Given the description of an element on the screen output the (x, y) to click on. 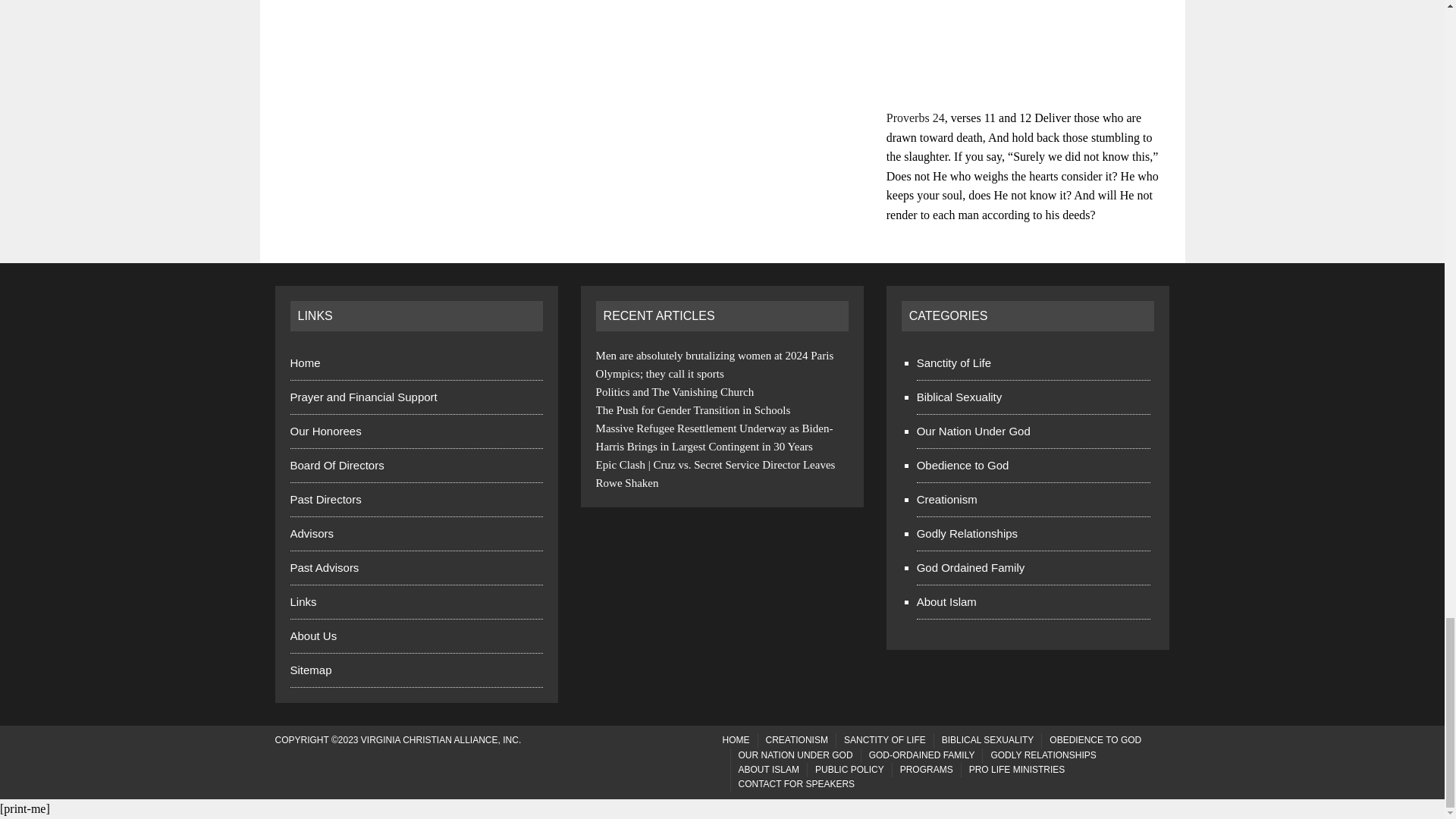
READVERSE Proverbs 24 (915, 117)
